Given the description of an element on the screen output the (x, y) to click on. 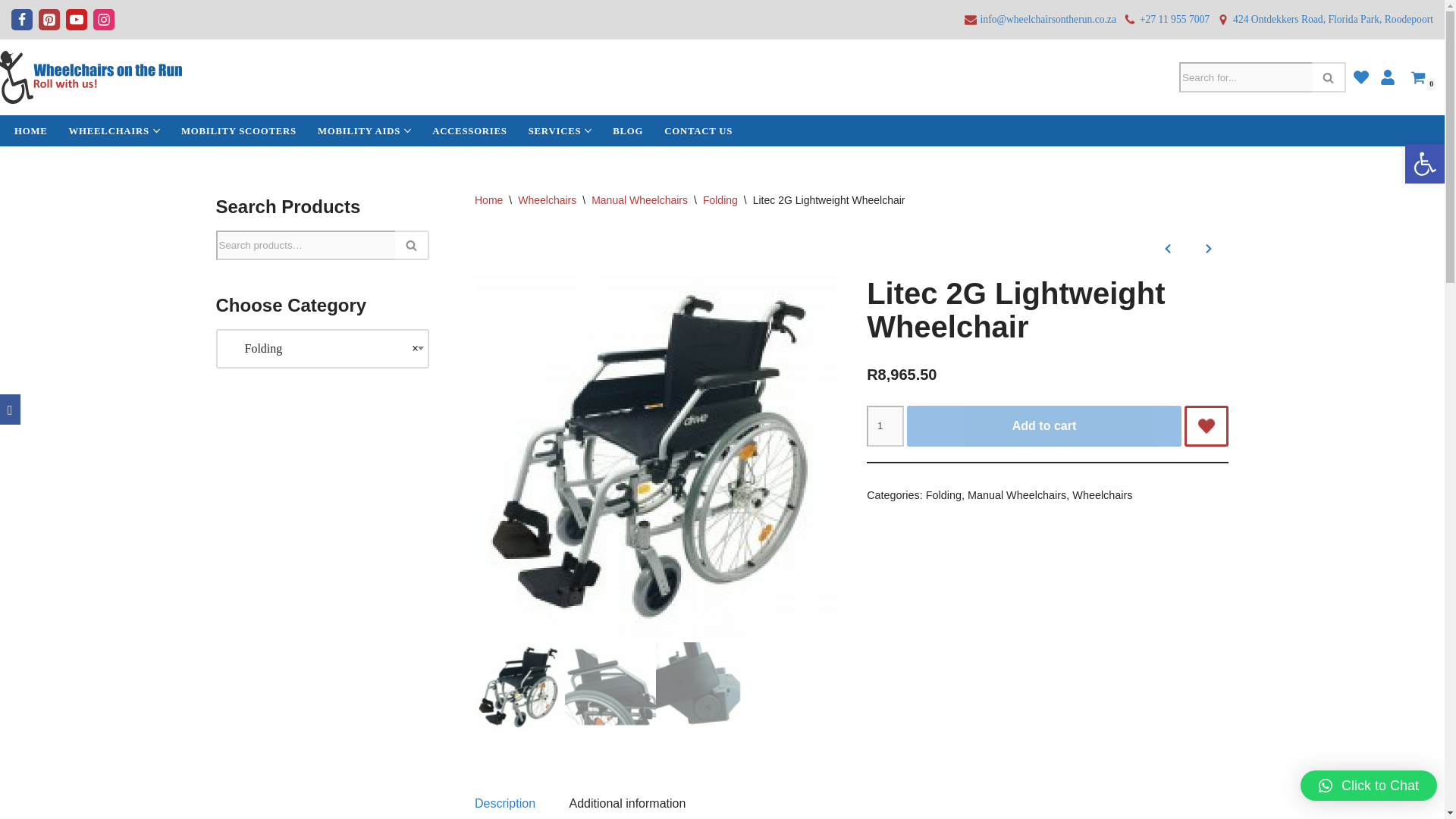
MOBILITY AIDS (358, 130)
Accessibility Tools (1424, 163)
WHEELCHAIRS (108, 130)
Pinterest (49, 19)
HOME (31, 130)
Instagram (104, 19)
1 (884, 425)
Skip to content (11, 31)
Facebook (21, 19)
